Given the description of an element on the screen output the (x, y) to click on. 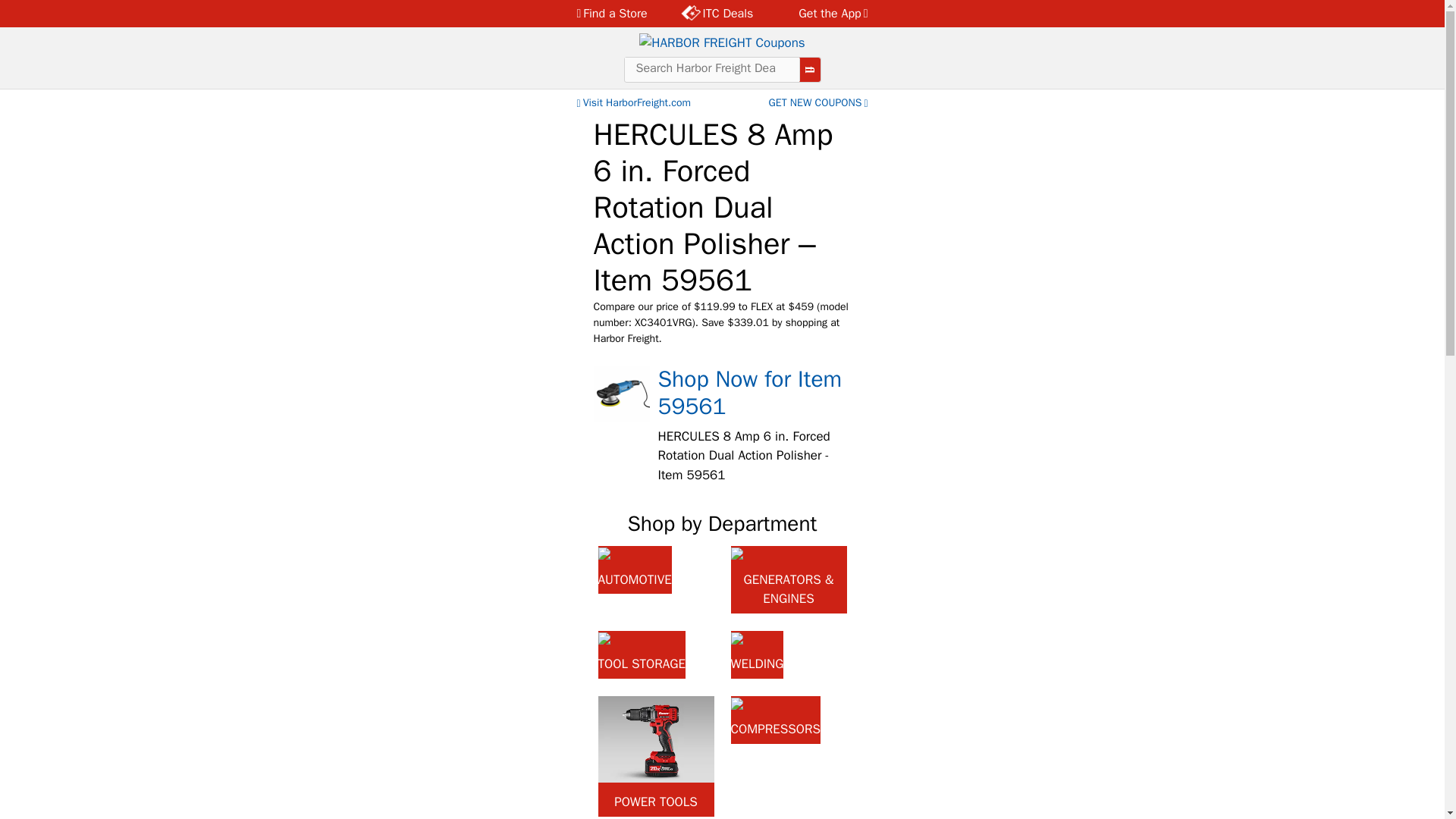
COMPRESSORS (775, 719)
GET NEW COUPONS (819, 103)
Find a Harbor Freight Store (615, 13)
Find a Store (615, 13)
WELDING (757, 654)
POWER TOOLS (654, 756)
Download the Harbor Freight App (823, 13)
Inside Track Club Member Deals (717, 13)
Search Harbor Freight Deals (711, 68)
TOOL STORAGE (640, 654)
